Given the description of an element on the screen output the (x, y) to click on. 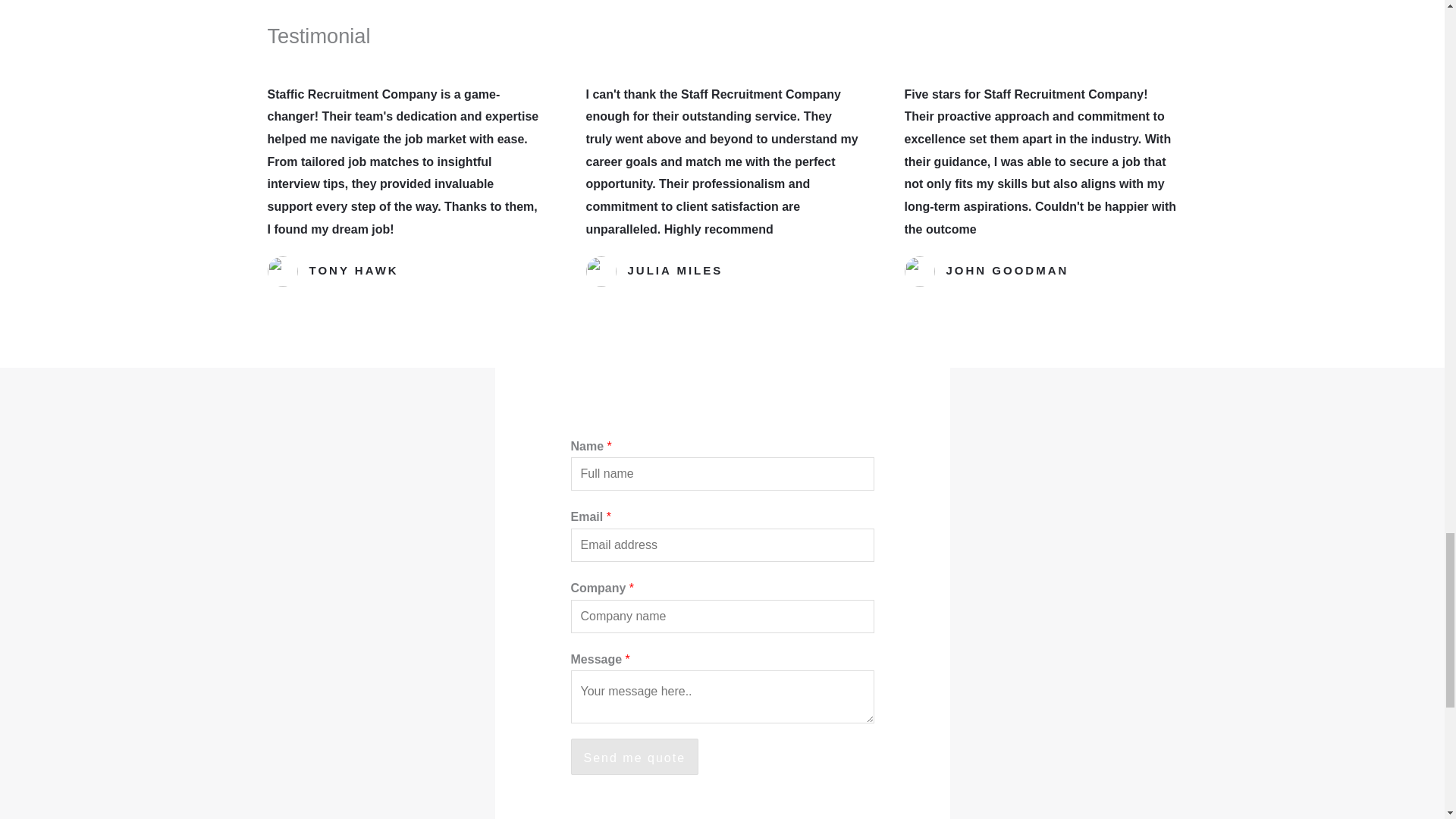
Send me quote (634, 756)
